Given the description of an element on the screen output the (x, y) to click on. 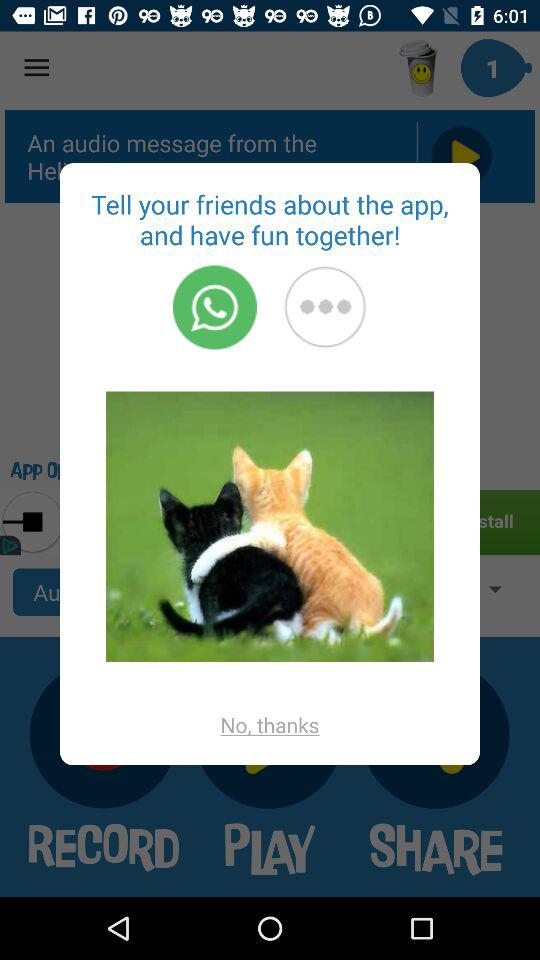
select no, thanks icon (269, 724)
